Given the description of an element on the screen output the (x, y) to click on. 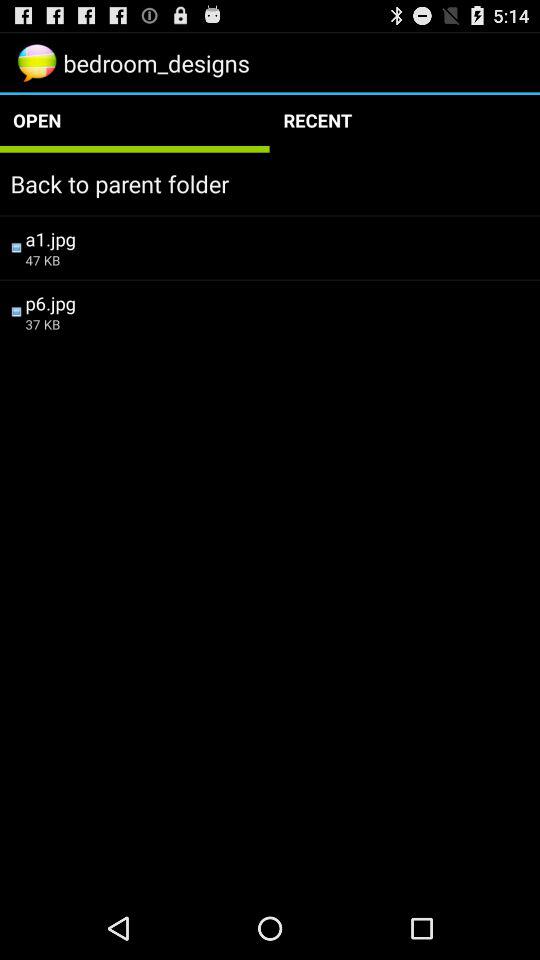
click icon below the p6.jpg item (277, 324)
